Given the description of an element on the screen output the (x, y) to click on. 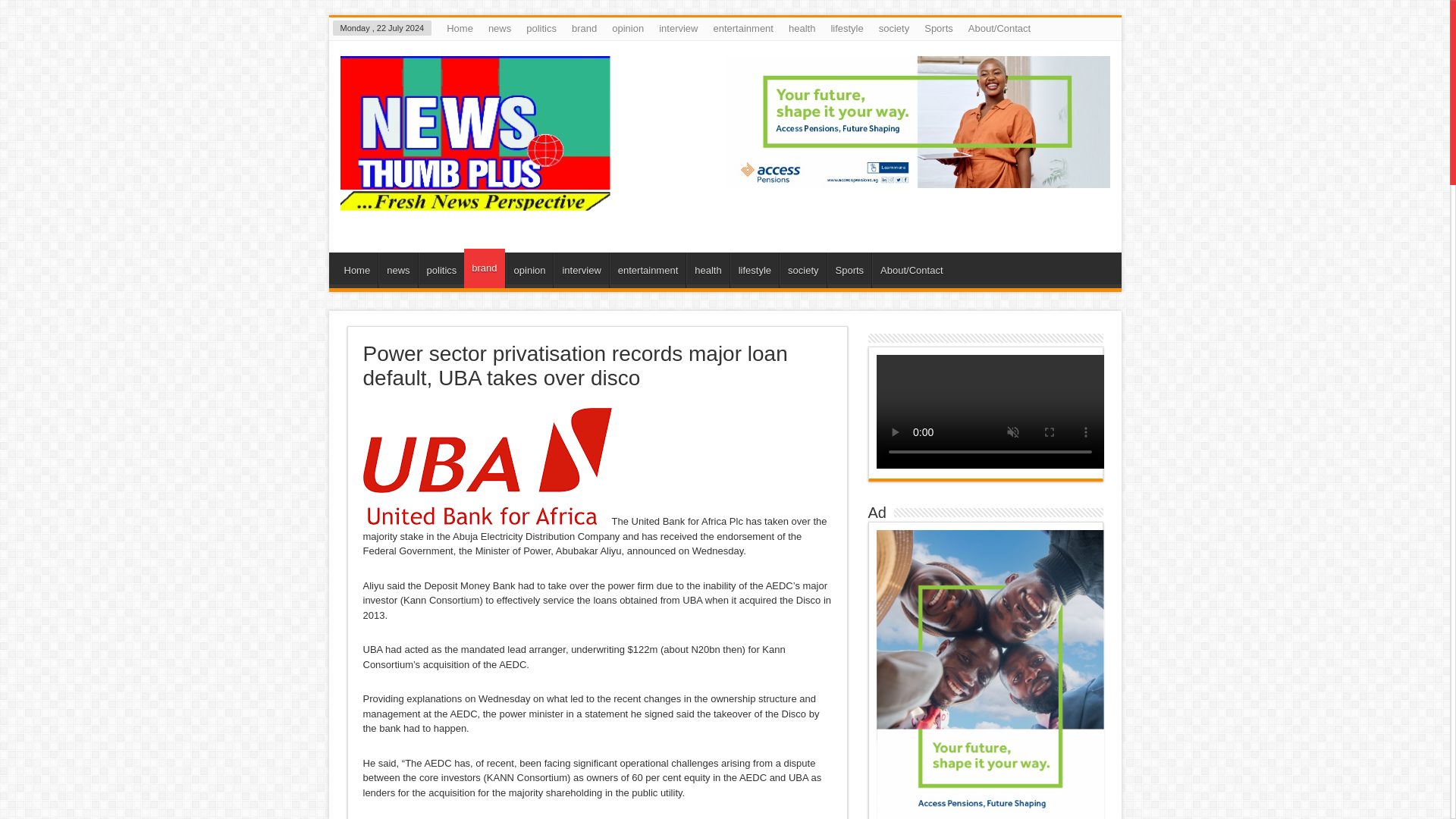
lifestyle (846, 28)
lifestyle (754, 270)
opinion (529, 270)
politics (541, 28)
Home (459, 28)
Sports (938, 28)
Home (357, 270)
Sports (849, 270)
brand (584, 28)
health (801, 28)
entertainment (647, 270)
news (499, 28)
interview (580, 270)
opinion (627, 28)
politics (441, 270)
